Given the description of an element on the screen output the (x, y) to click on. 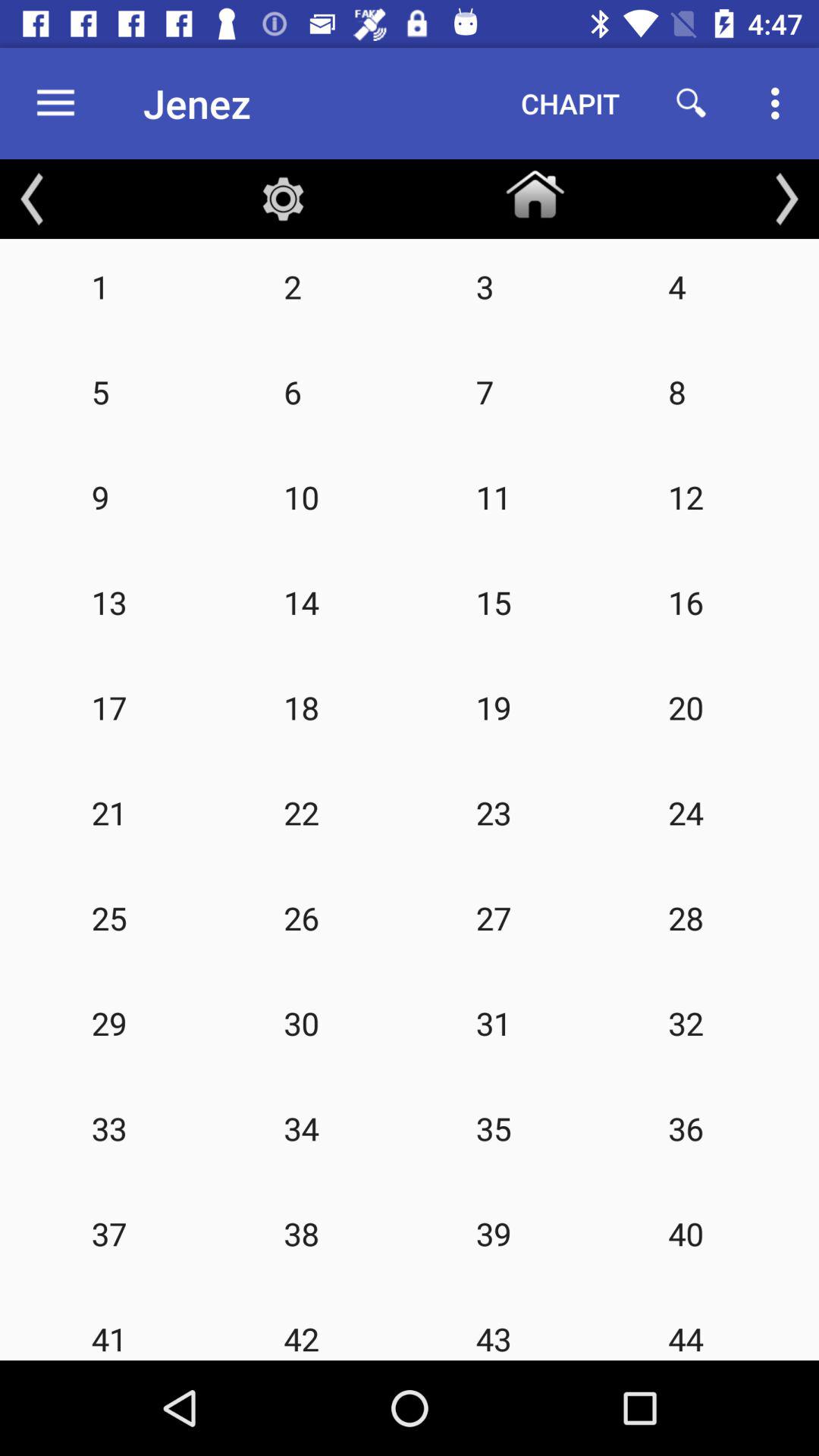
choose chapit item (570, 103)
